Given the description of an element on the screen output the (x, y) to click on. 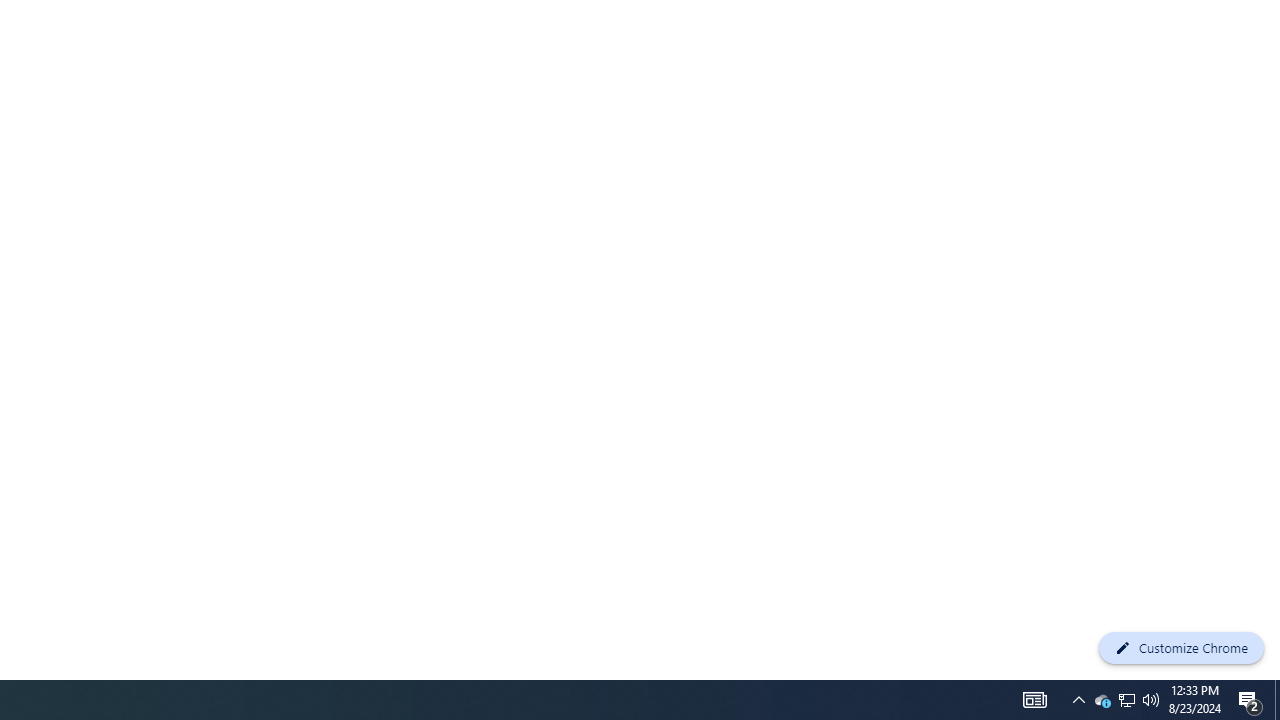
Customize Chrome (1181, 647)
